Given the description of an element on the screen output the (x, y) to click on. 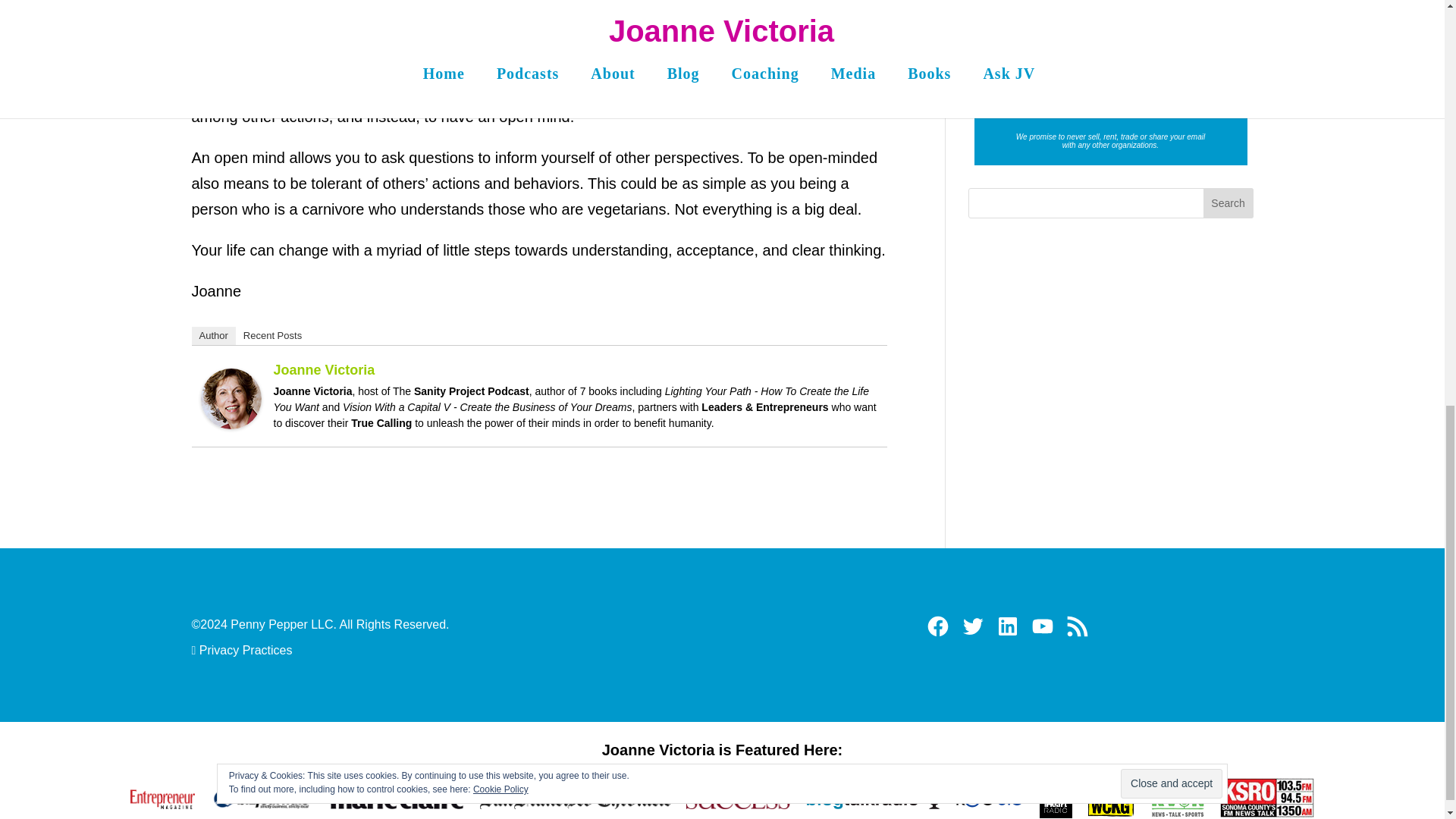
RSS Feed (1077, 626)
Facebook (938, 626)
Joanne Victoria (323, 369)
Search (1228, 203)
Twitter (972, 626)
Search (1228, 203)
Author (212, 335)
YouTube (1042, 626)
Get It (1110, 85)
Privacy Practices (243, 649)
LinkedIn (1007, 626)
Recent Posts (271, 335)
Joanne Victoria (230, 416)
